Given the description of an element on the screen output the (x, y) to click on. 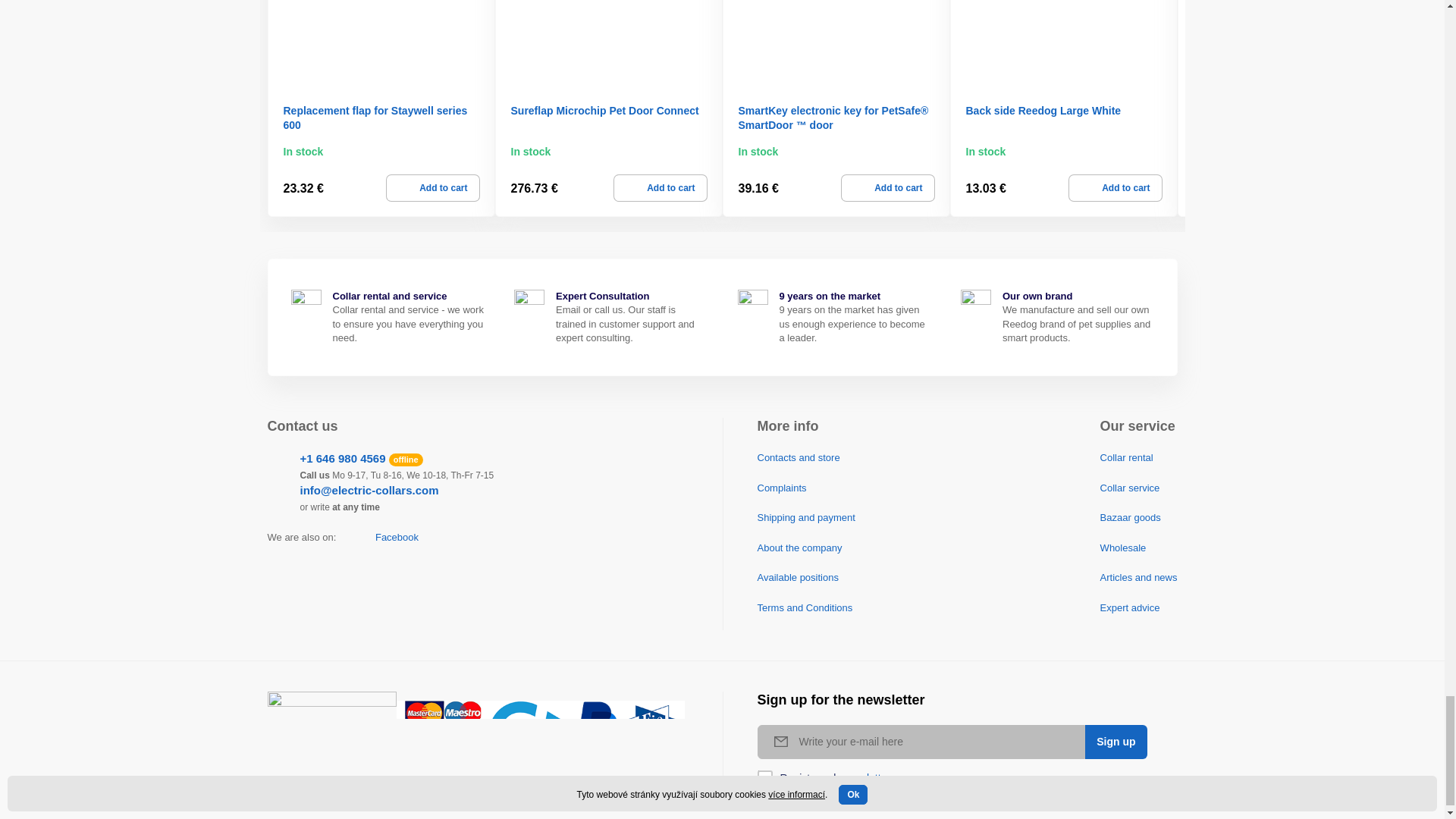
Add to cart (433, 187)
Add to cart (887, 187)
Add to cart (1114, 187)
Add to cart (660, 187)
